Given the description of an element on the screen output the (x, y) to click on. 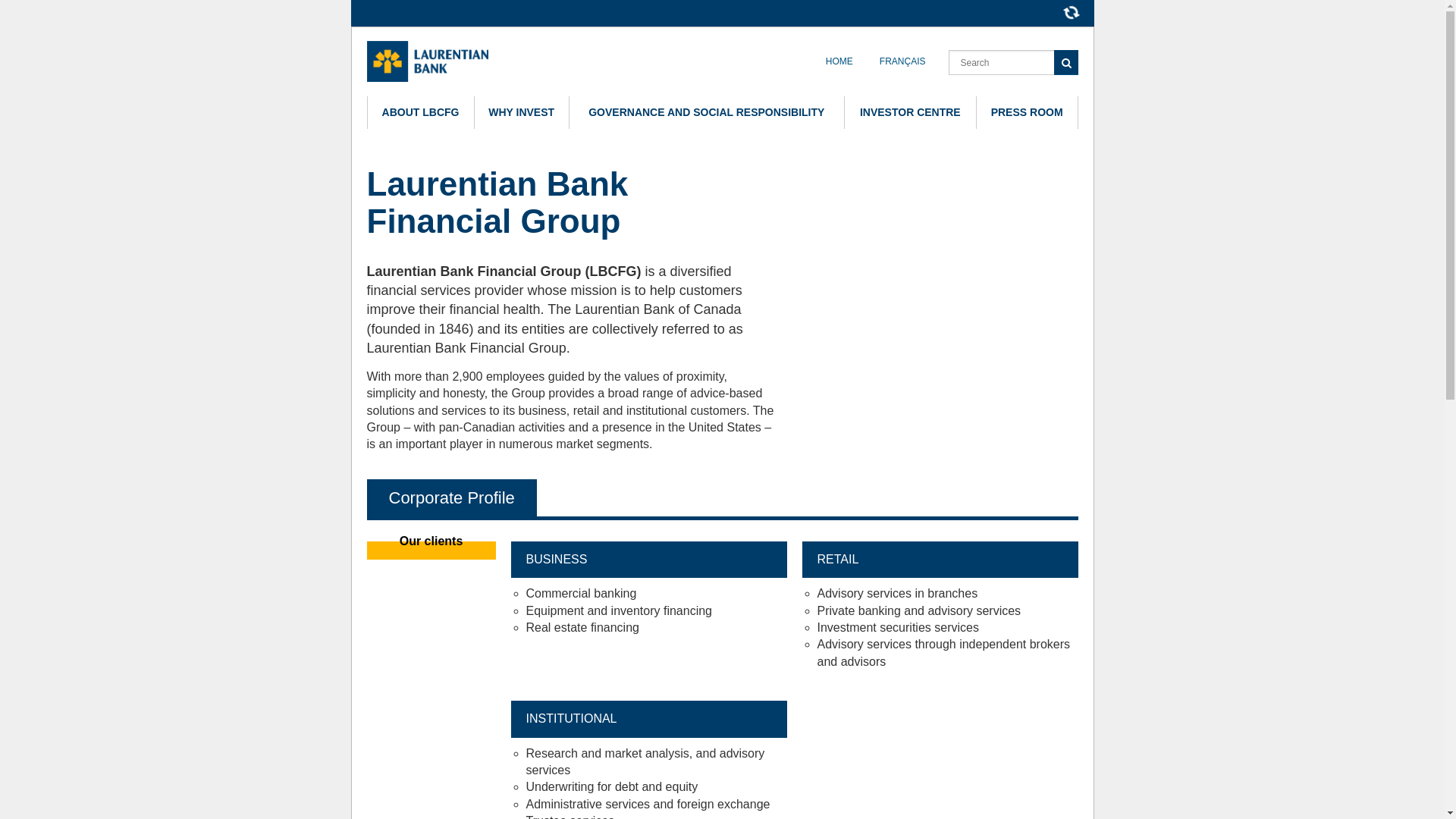
HOME Element type: text (839, 61)
Go Element type: text (1066, 62)
ABOUT LBCFG Element type: text (420, 112)
Video Player Element type: hover (933, 254)
INVESTOR CENTRE Element type: text (909, 112)
Search Element type: hover (1012, 62)
Laurentian Bank Financial Group Element type: hover (427, 60)
WHY INVEST Element type: text (521, 112)
PRESS ROOM Element type: text (1026, 112)
GOVERNANCE AND SOCIAL RESPONSIBILITY Element type: text (706, 112)
